Given the description of an element on the screen output the (x, y) to click on. 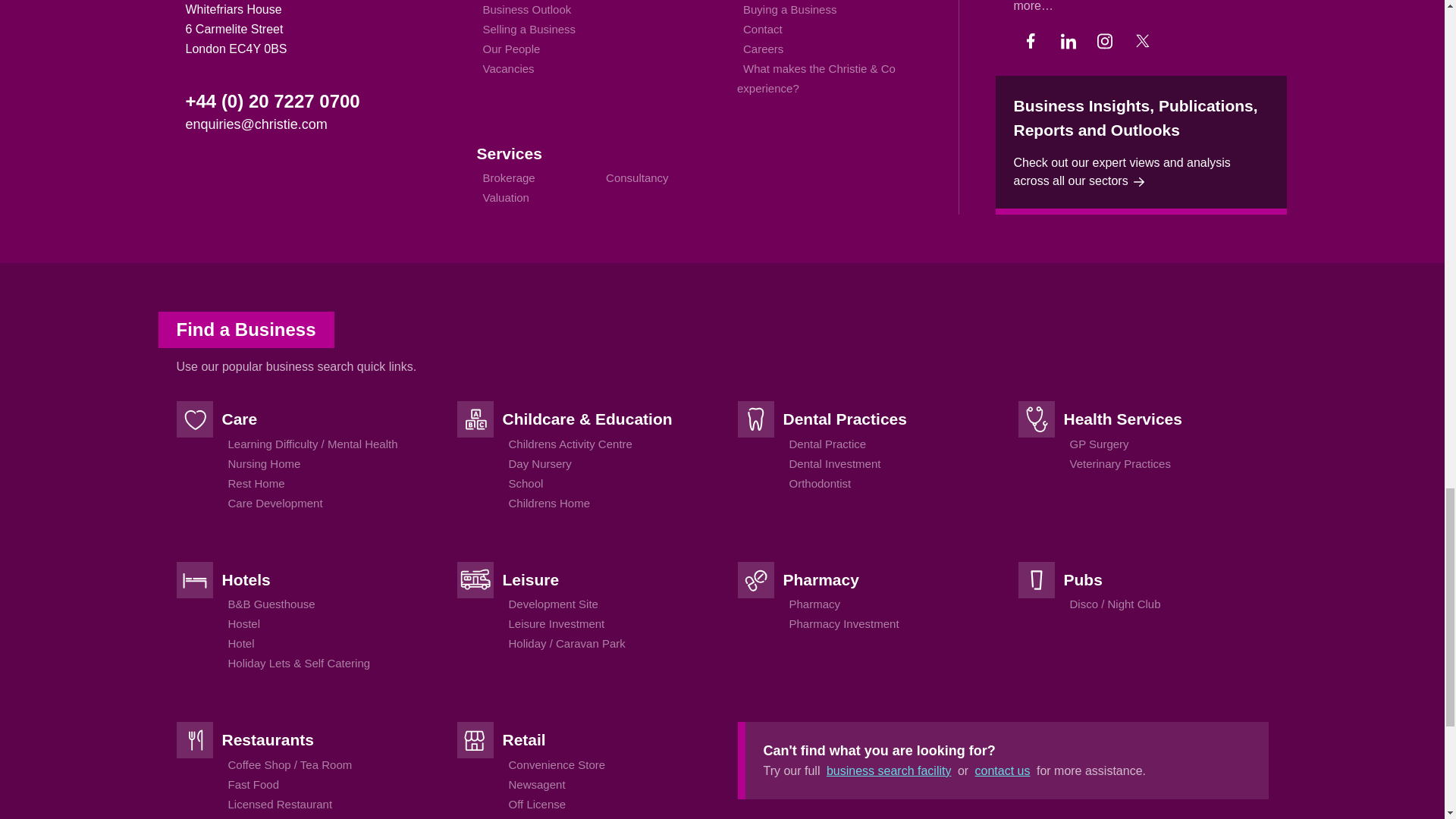
Selling a Business (528, 28)
Brokerage (508, 177)
Buying a Business (789, 9)
Careers (762, 48)
Vacancies (508, 67)
Contact (762, 28)
Consultancy (637, 177)
Business Outlook (526, 9)
Valuation (505, 197)
Our People (511, 48)
